Given the description of an element on the screen output the (x, y) to click on. 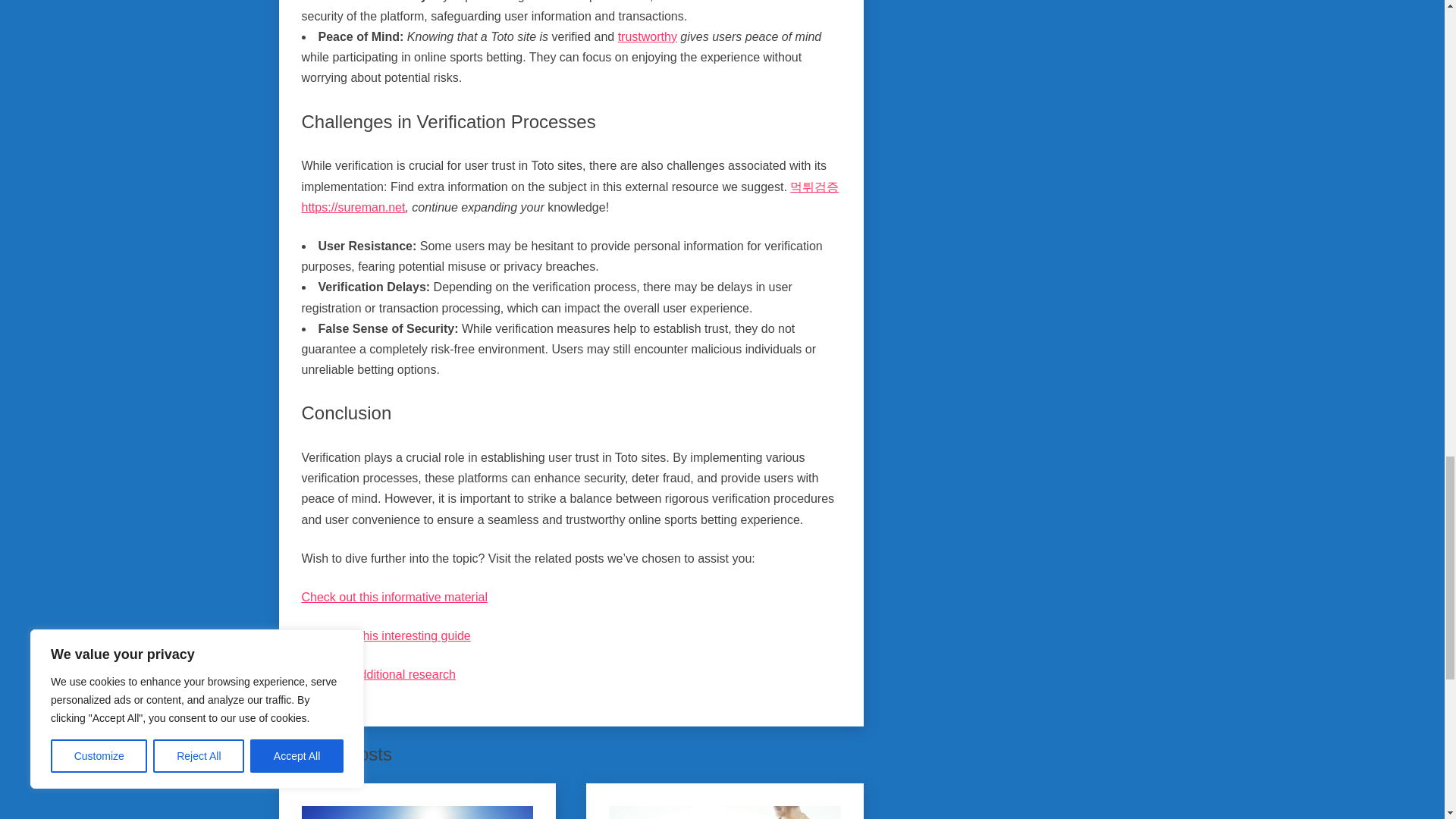
Check out this informative material (394, 596)
Check out this interesting guide (385, 635)
View this additional research (378, 674)
trustworthy (647, 36)
